Given the description of an element on the screen output the (x, y) to click on. 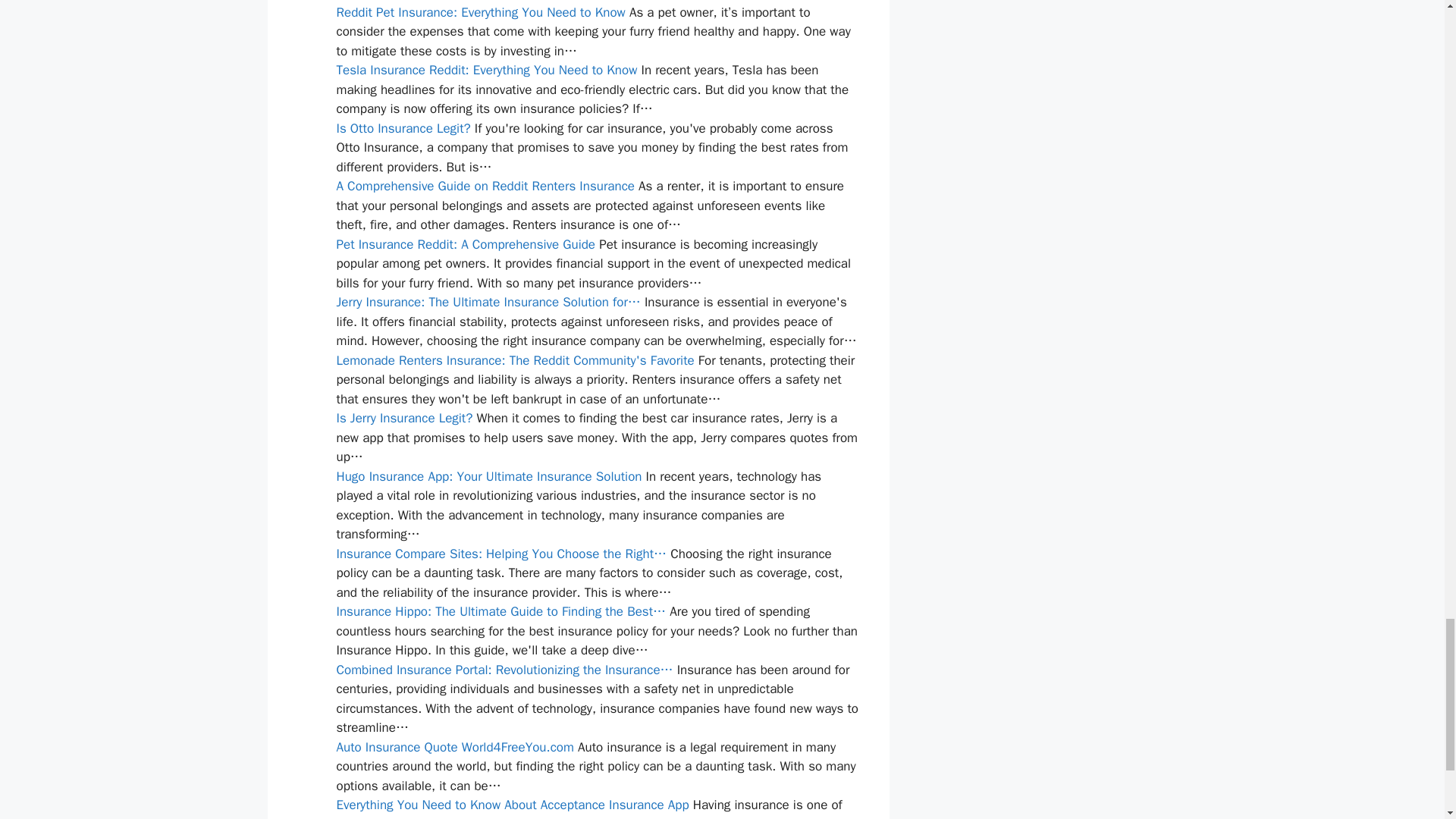
Reddit Pet Insurance: Everything You Need to Know (481, 12)
Tesla Insurance Reddit: Everything You Need to Know (486, 69)
Is Otto Insurance Legit? (403, 128)
